Given the description of an element on the screen output the (x, y) to click on. 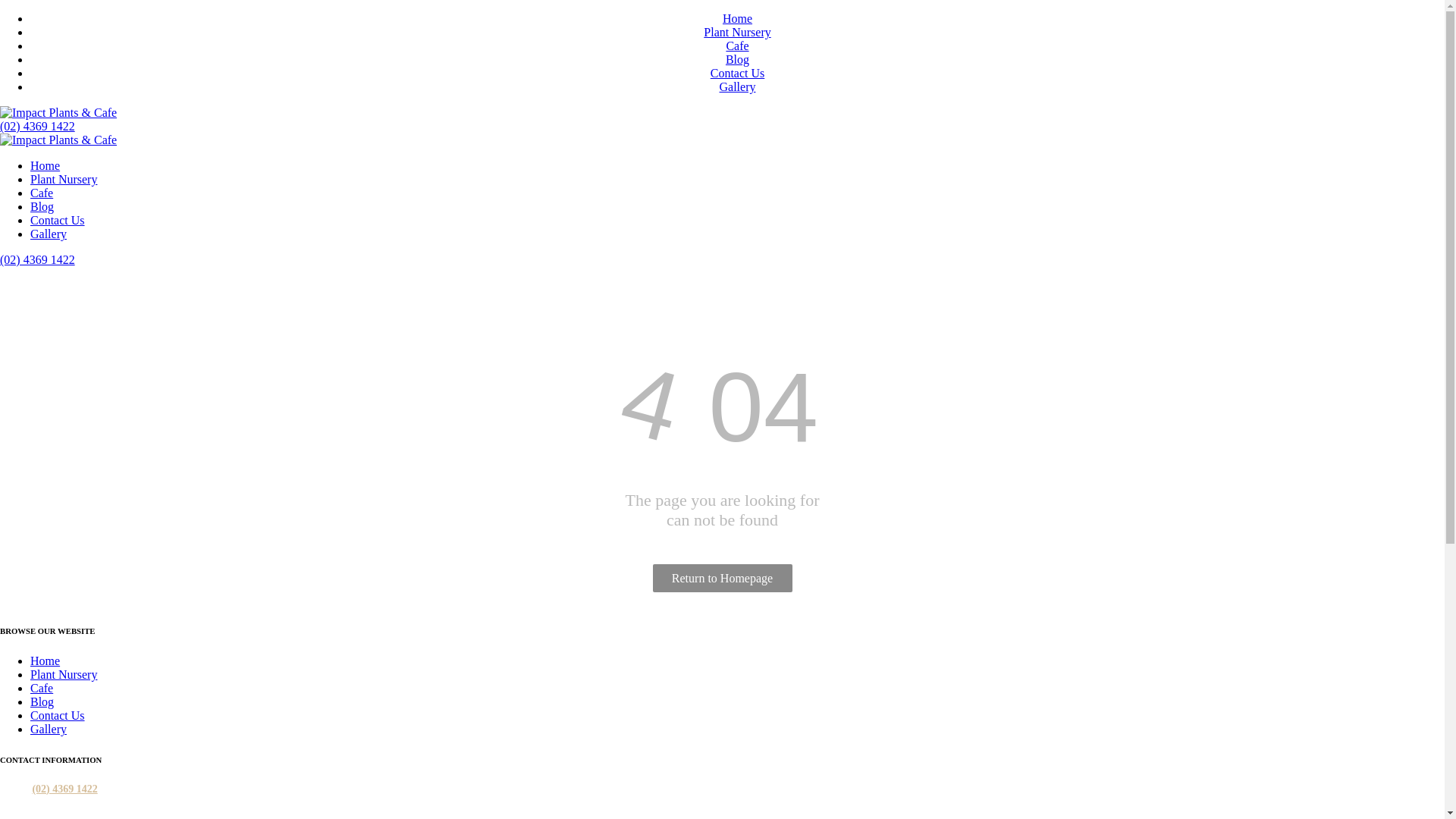
Cafe Element type: text (41, 192)
Blog Element type: text (41, 206)
Home Element type: text (44, 660)
Gallery Element type: text (48, 728)
Cafe Element type: text (41, 687)
Cafe Element type: text (736, 45)
Blog Element type: text (41, 701)
Contact Us Element type: text (737, 72)
(02) 4369 1422 Element type: text (64, 788)
Contact Us Element type: text (57, 219)
Blog Element type: text (737, 59)
Home Element type: text (737, 18)
Contact Us Element type: text (57, 715)
Impact Plants & Cafe Element type: hover (58, 112)
Home Element type: text (44, 165)
Return to Homepage Element type: text (721, 578)
Plant Nursery Element type: text (736, 31)
Plant Nursery Element type: text (63, 674)
Gallery Element type: text (736, 86)
(02) 4369 1422 Element type: text (37, 125)
Gallery Element type: text (48, 233)
Plant Nursery Element type: text (63, 178)
Impact Plants & Cafe Element type: hover (58, 140)
(02) 4369 1422 Element type: text (37, 259)
